Given the description of an element on the screen output the (x, y) to click on. 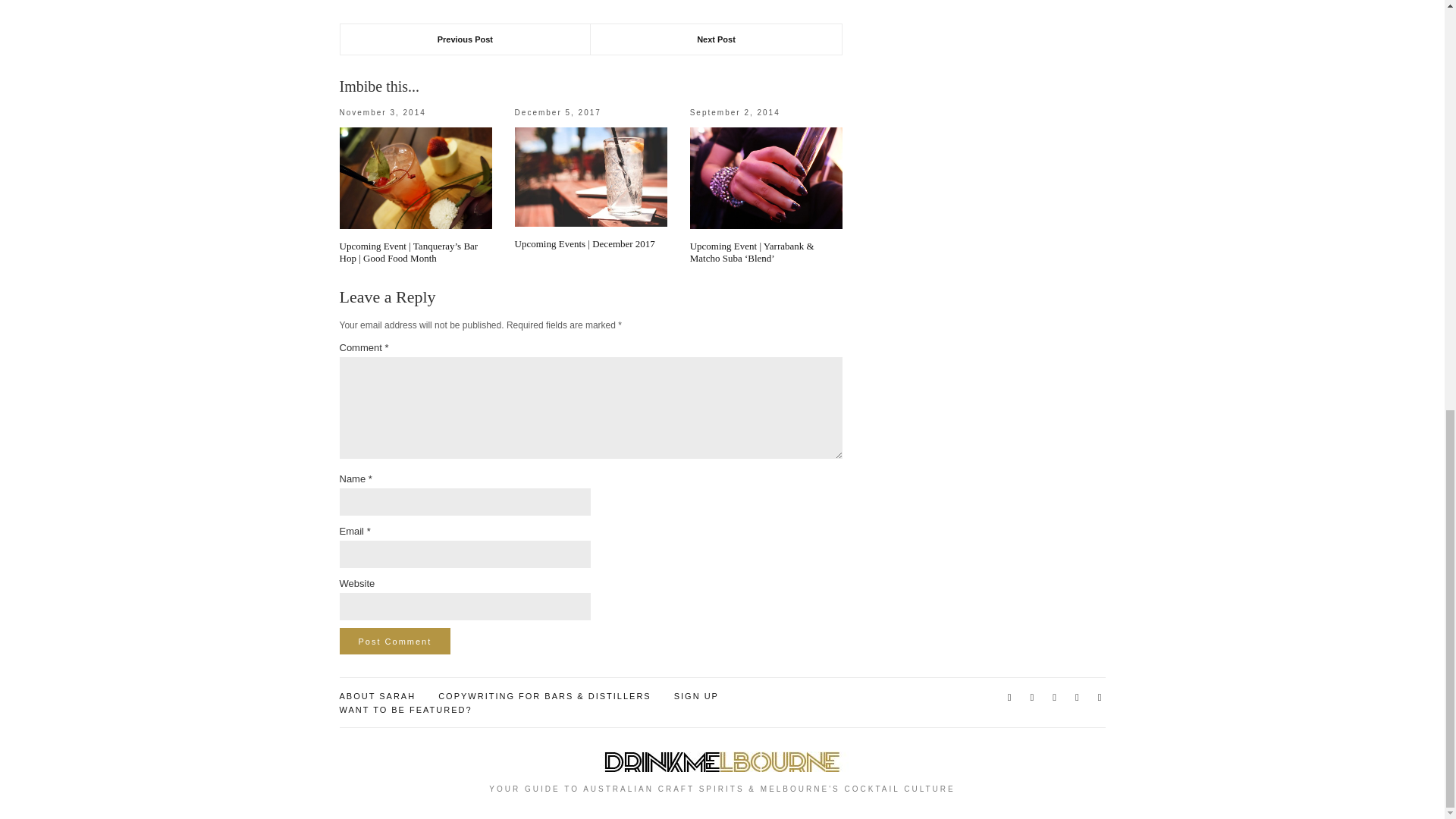
Post Comment (395, 641)
ABOUT SARAH (377, 696)
Next Post (716, 39)
Post Comment (395, 641)
WANT TO BE FEATURED? (405, 710)
SIGN UP (696, 696)
Previous Post (465, 39)
